Given the description of an element on the screen output the (x, y) to click on. 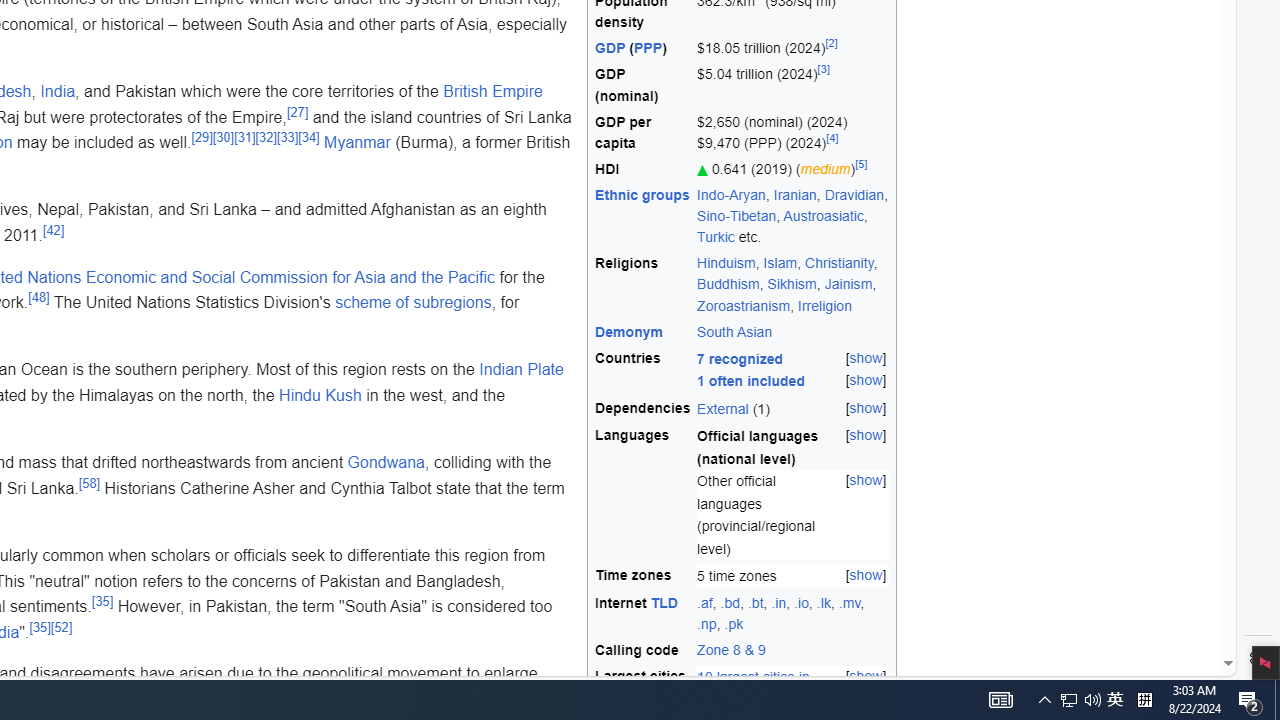
GDP (610, 48)
Zoroastrianism (744, 304)
[52] (60, 627)
GDP (PPP) (643, 48)
Irreligion (824, 304)
$5.04 trillion (2024)[3] (793, 85)
1 often included (751, 381)
$2,650 (nominal) (2024) $9,470 (PPP) (2024)[4] (793, 132)
[2] (831, 42)
[30] (223, 136)
Jainism (848, 284)
[48] (38, 296)
.mv (849, 602)
Gondwana (385, 463)
[42] (53, 229)
